Given the description of an element on the screen output the (x, y) to click on. 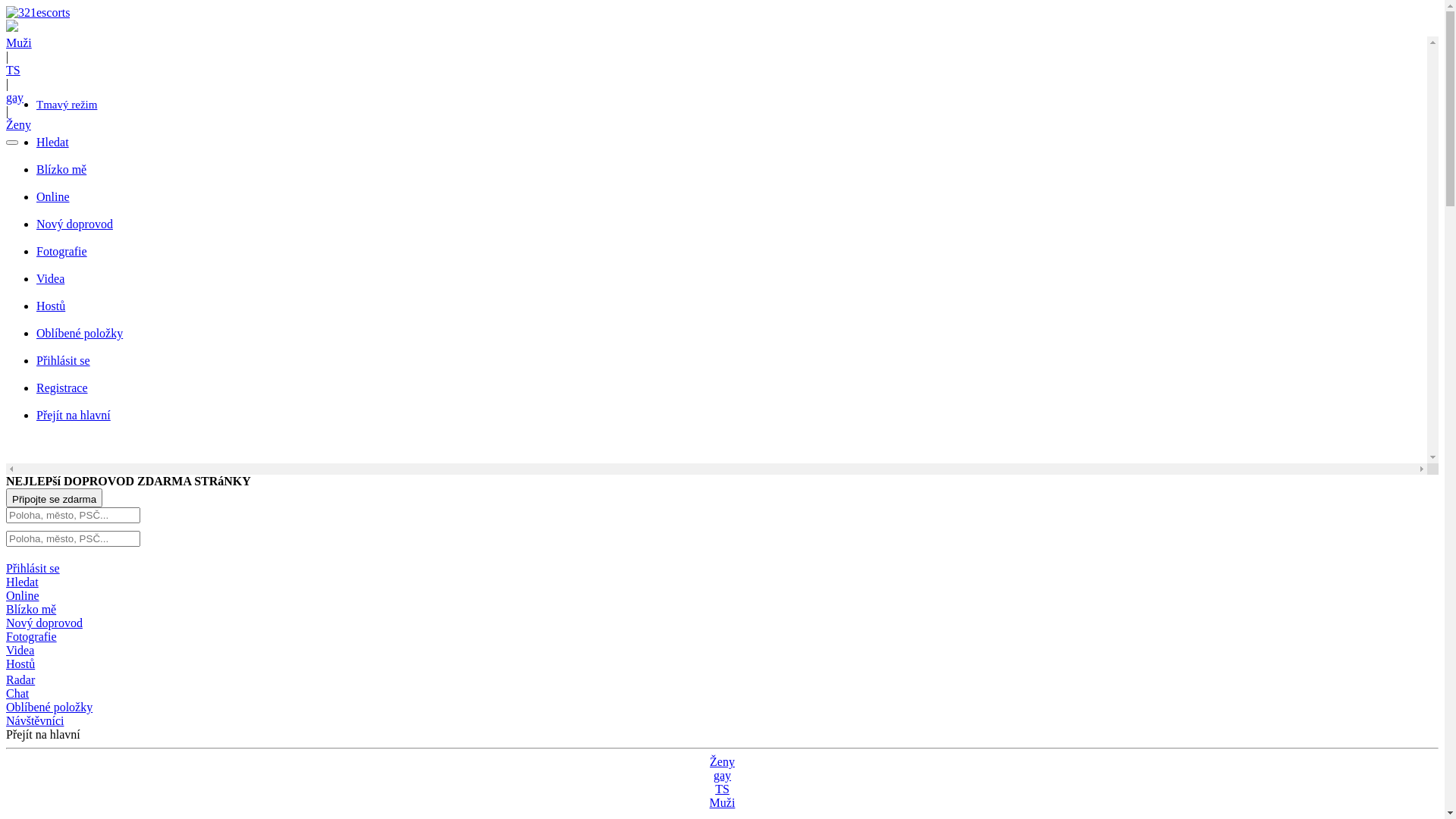
Videa Element type: text (731, 285)
TS Element type: text (13, 69)
Online Element type: text (731, 203)
gay Element type: text (14, 97)
Online Element type: text (22, 595)
Videa Element type: text (20, 649)
Hledat Element type: text (731, 149)
TS Element type: text (722, 788)
Chat Element type: text (722, 693)
Registrace Element type: text (731, 394)
Radar Element type: text (722, 680)
Hledat Element type: text (22, 581)
Fotografie Element type: text (731, 258)
Fotografie Element type: text (31, 636)
gay Element type: text (722, 774)
